Given the description of an element on the screen output the (x, y) to click on. 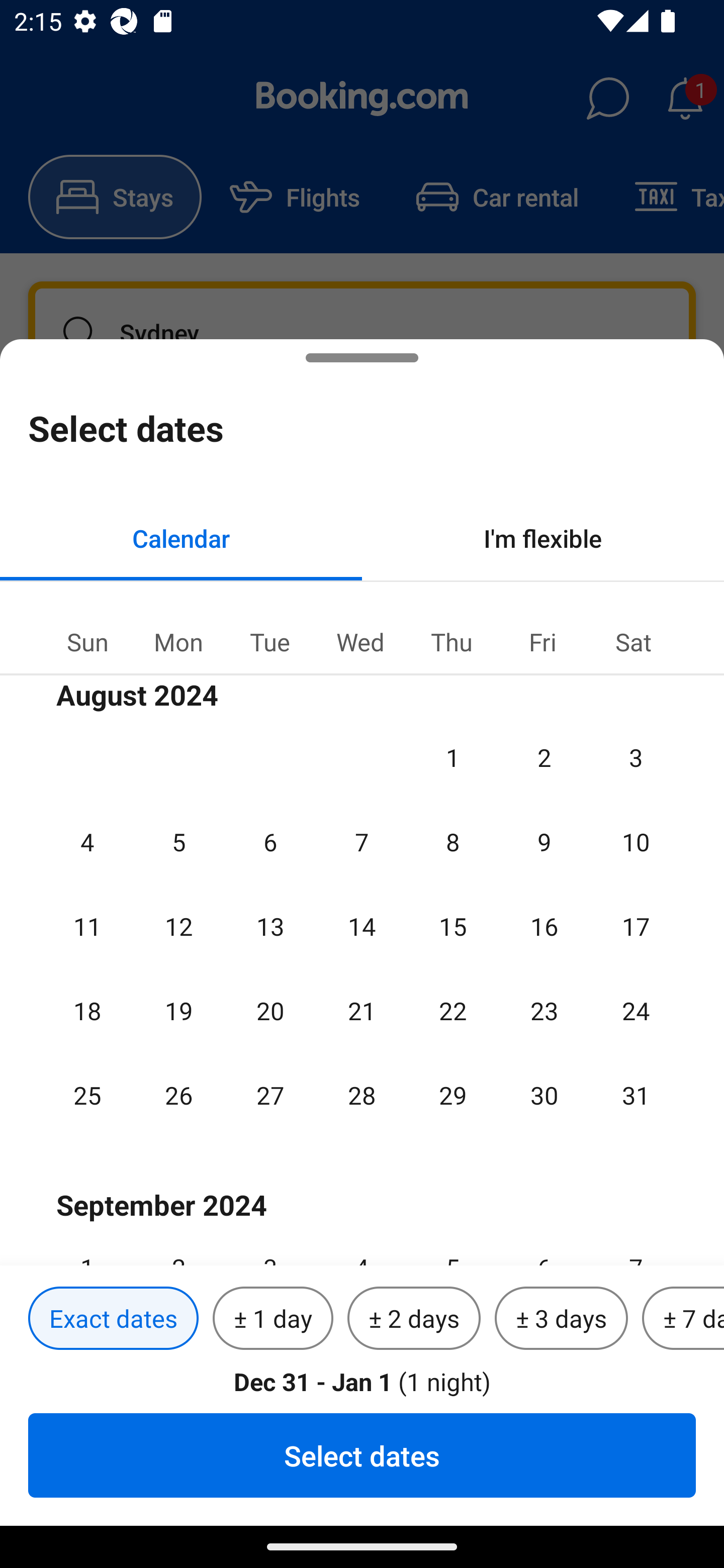
I'm flexible (543, 537)
Exact dates (113, 1318)
± 1 day (272, 1318)
± 2 days (413, 1318)
± 3 days (560, 1318)
± 7 days (683, 1318)
Select dates (361, 1454)
